Given the description of an element on the screen output the (x, y) to click on. 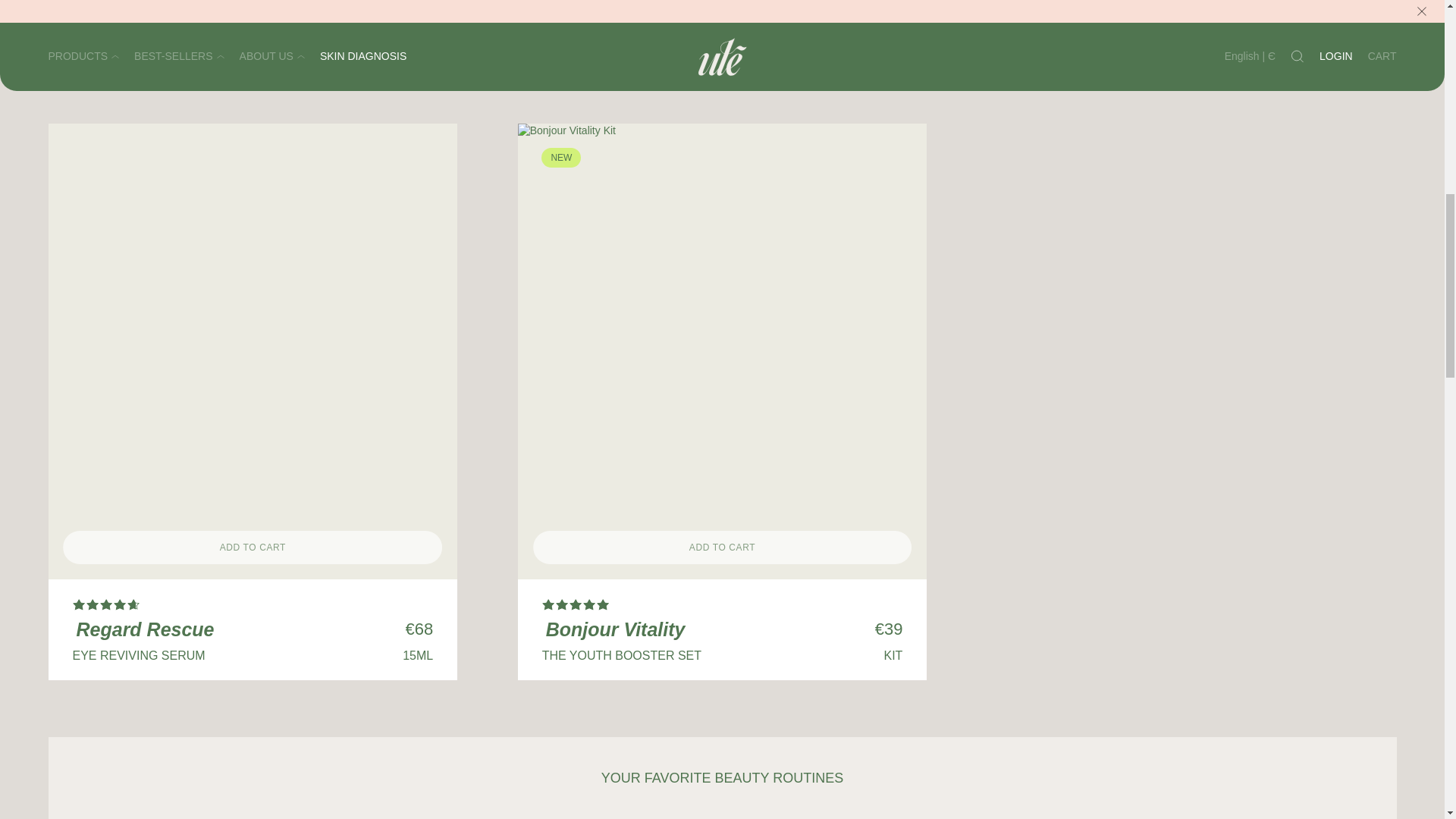
ADD TO CART (253, 547)
ADD TO CART (722, 547)
